Given the description of an element on the screen output the (x, y) to click on. 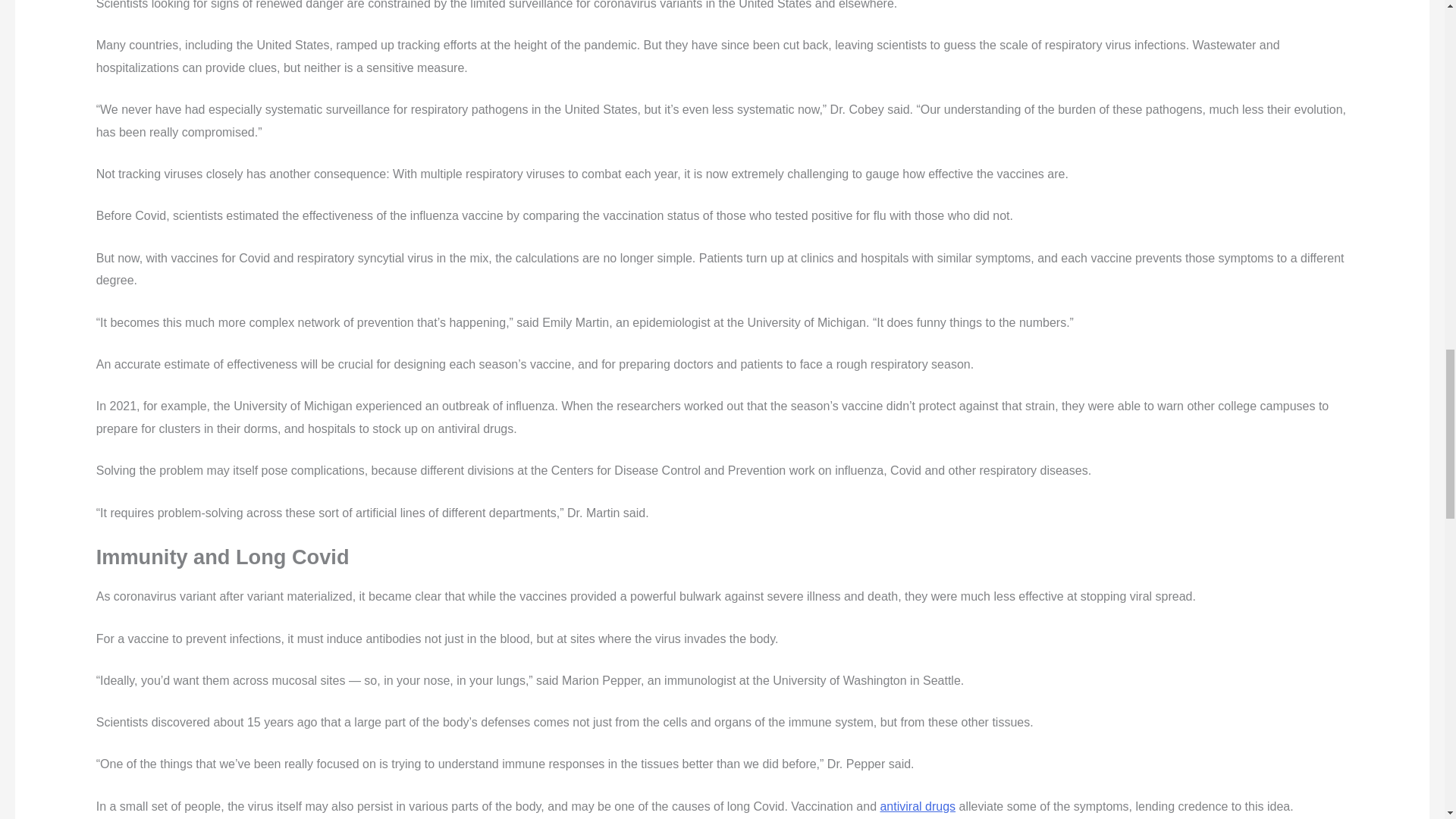
antiviral drugs (917, 806)
